Given the description of an element on the screen output the (x, y) to click on. 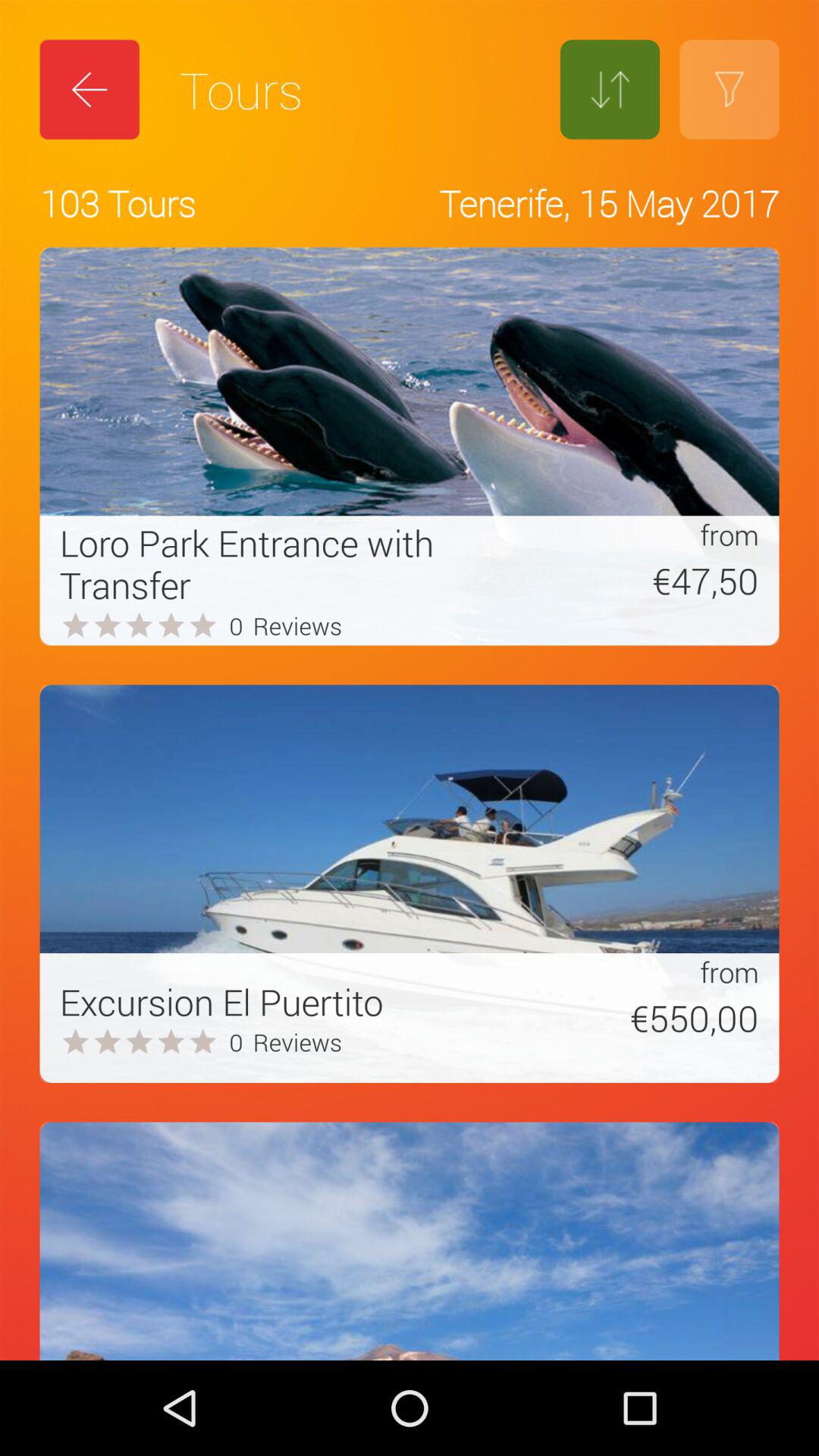
turn off the icon below from item (632, 1017)
